Given the description of an element on the screen output the (x, y) to click on. 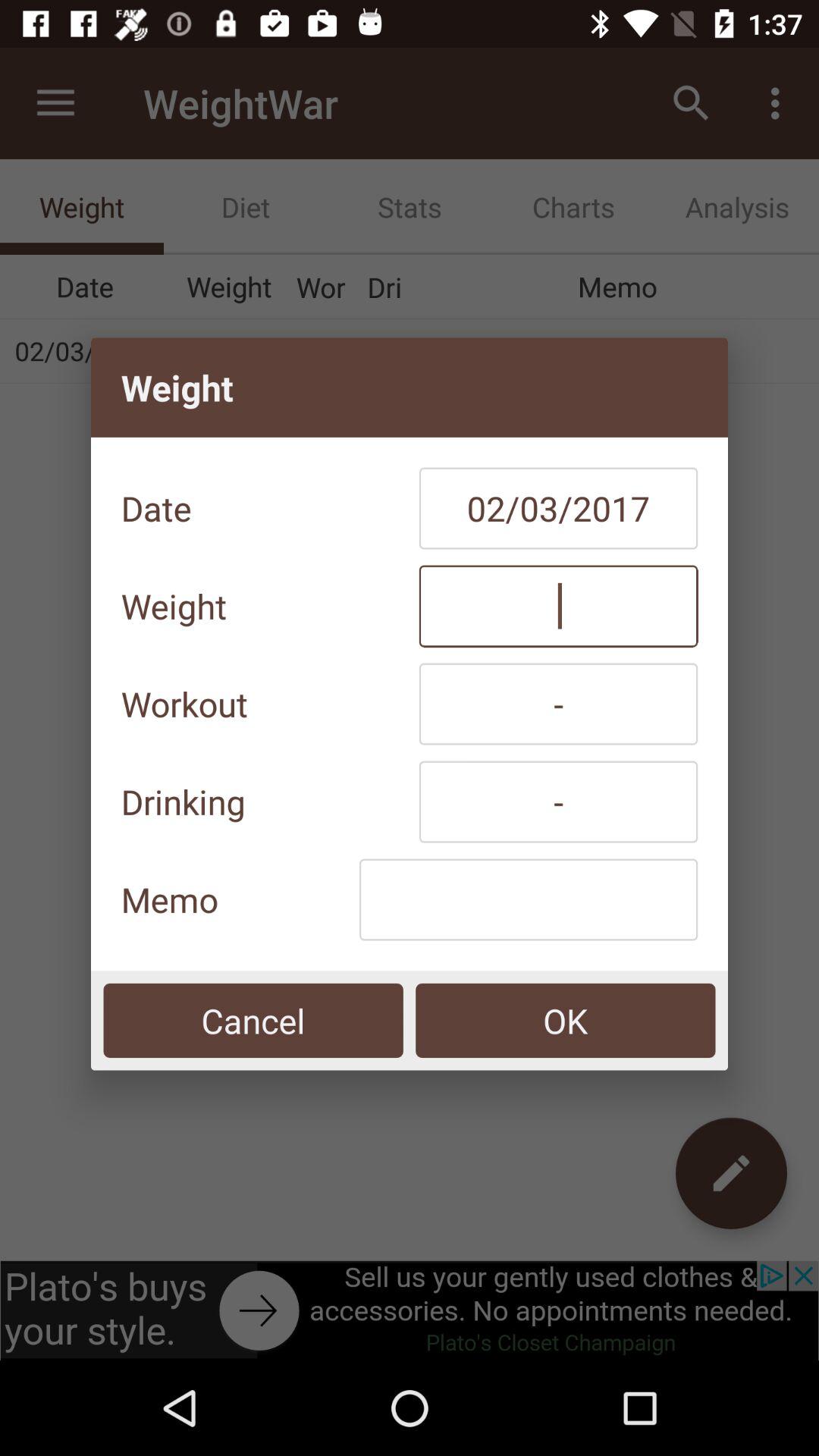
click the item above the cancel item (528, 899)
